Given the description of an element on the screen output the (x, y) to click on. 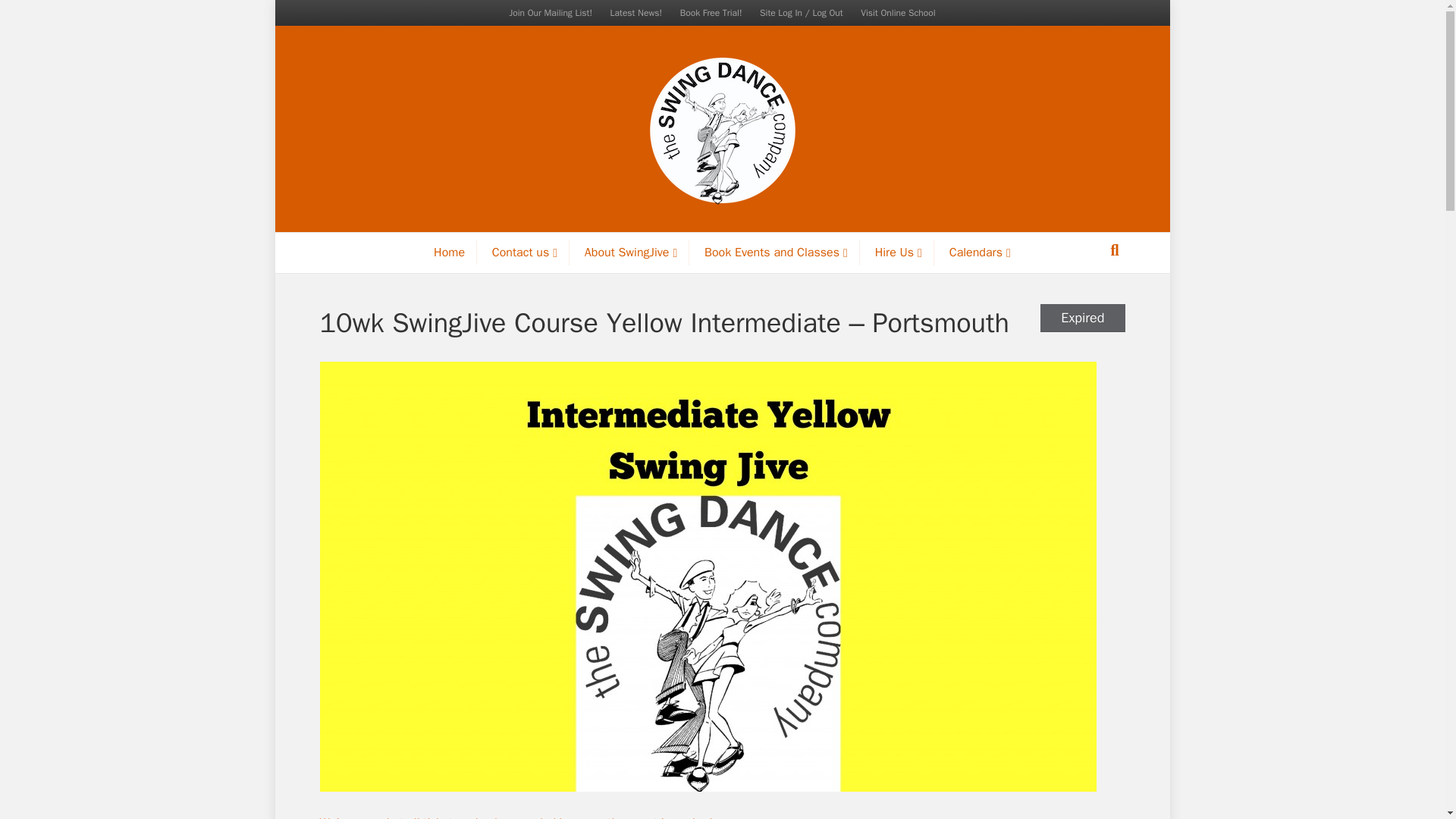
Home (449, 252)
Book Events and Classes (776, 252)
Join Our Mailing List! (549, 13)
Latest News! (635, 13)
About SwingJive (630, 252)
Contact us (524, 252)
Book Free Trial! (710, 13)
Visit Online School (897, 13)
